Given the description of an element on the screen output the (x, y) to click on. 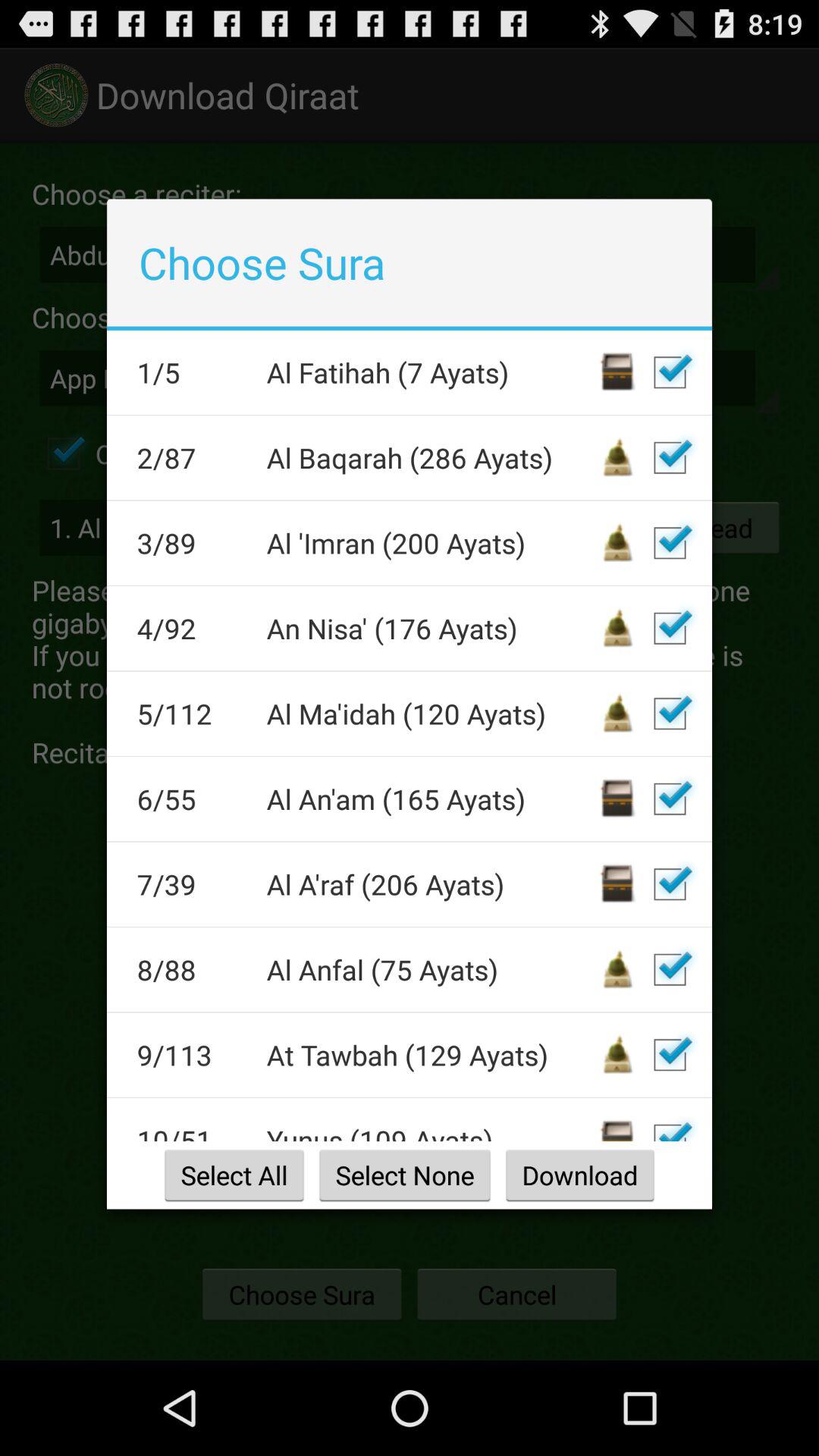
uncheck box (669, 543)
